Given the description of an element on the screen output the (x, y) to click on. 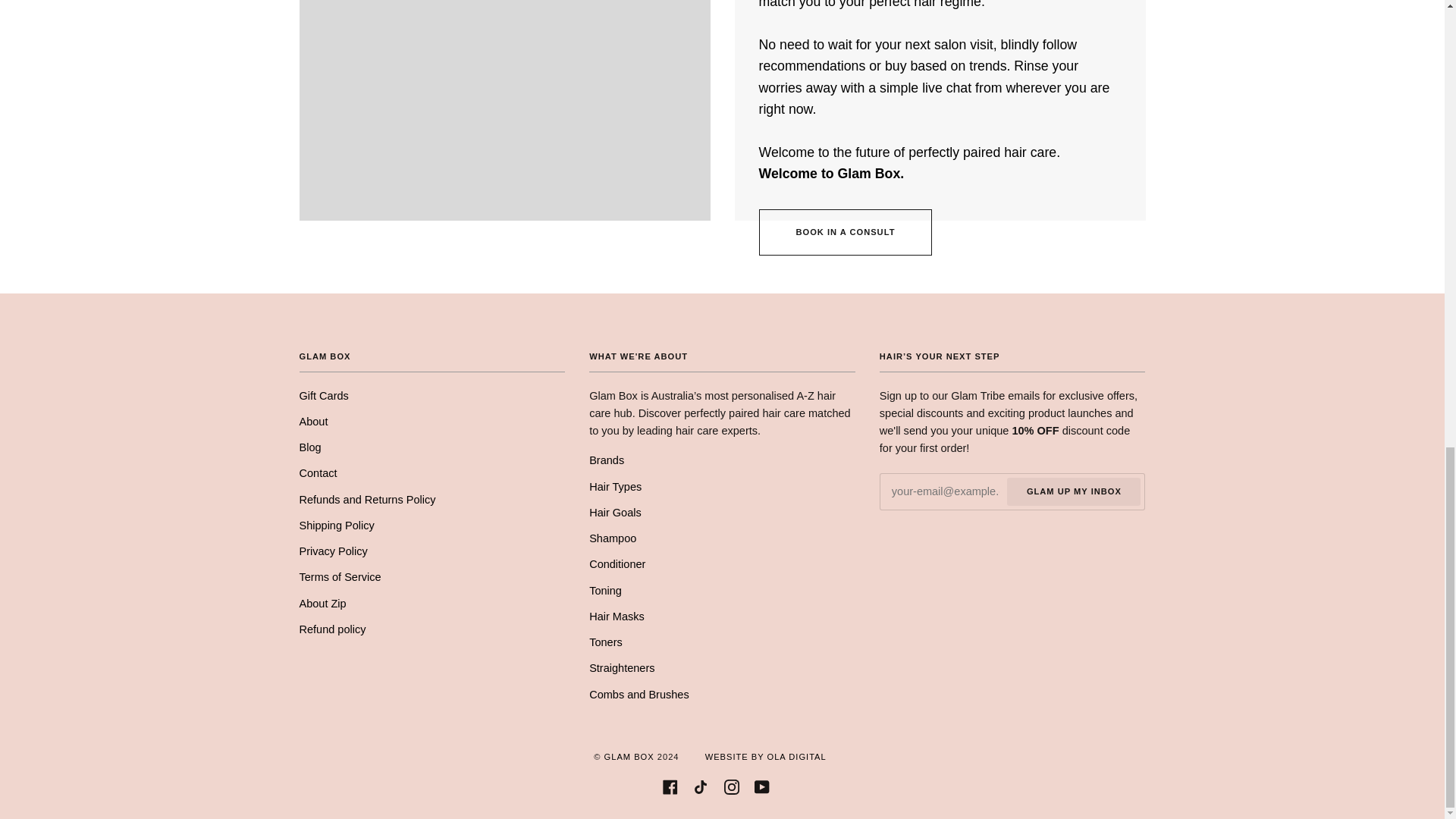
Instagram (731, 786)
YouTube (762, 786)
Tiktok (700, 786)
Facebook (670, 786)
